Given the description of an element on the screen output the (x, y) to click on. 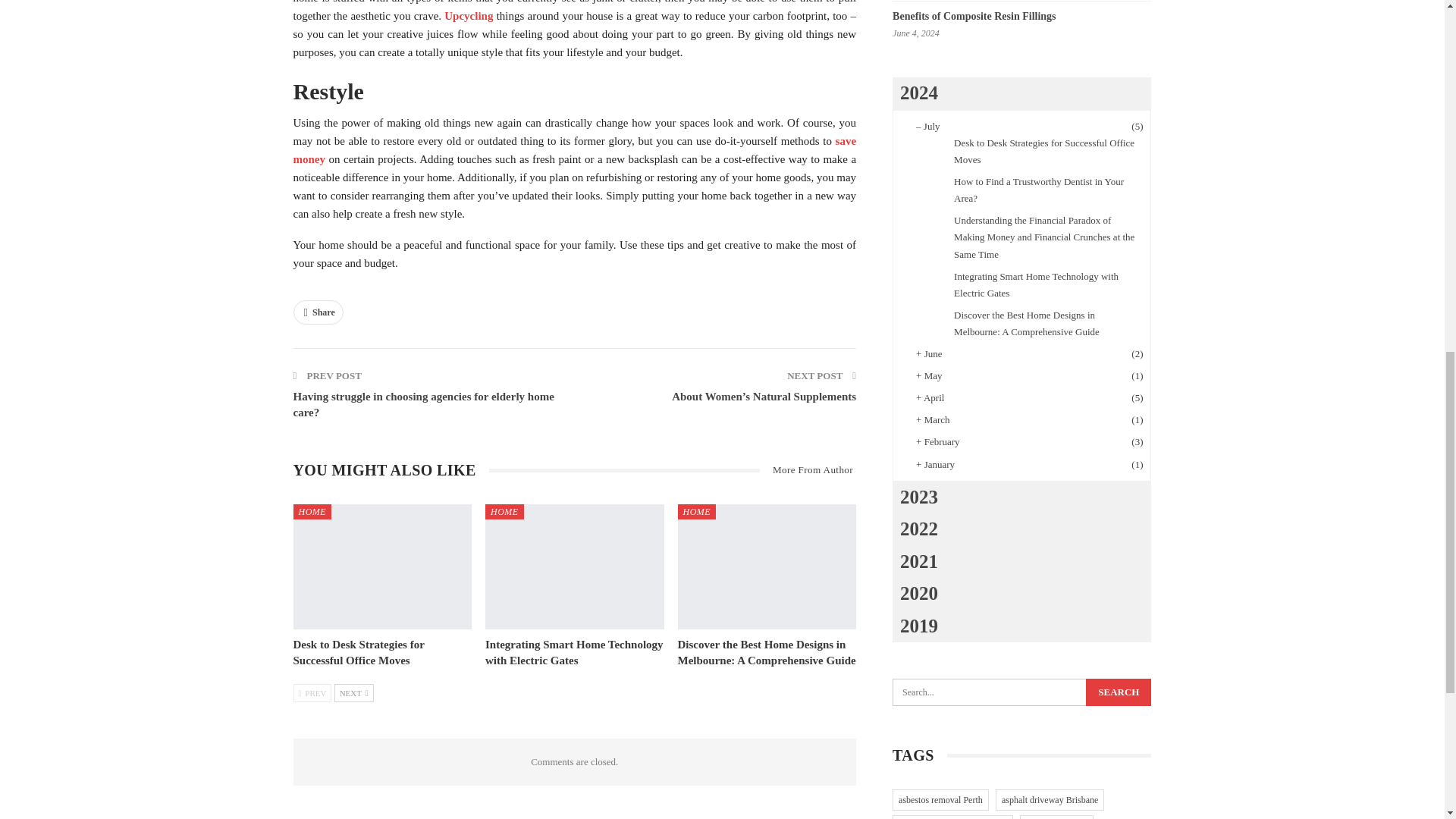
save money (574, 150)
HOME (311, 511)
Previous (311, 692)
HOME (697, 511)
HOME (504, 511)
Integrating Smart Home Technology with Electric Gates (573, 566)
Upcycling (468, 15)
Integrating Smart Home Technology with Electric Gates (573, 652)
Next (354, 692)
More From Author (808, 470)
Desk to Desk Strategies for Successful Office Moves (357, 652)
Search (1118, 691)
Desk to Desk Strategies for Successful Office Moves (357, 652)
